Given the description of an element on the screen output the (x, y) to click on. 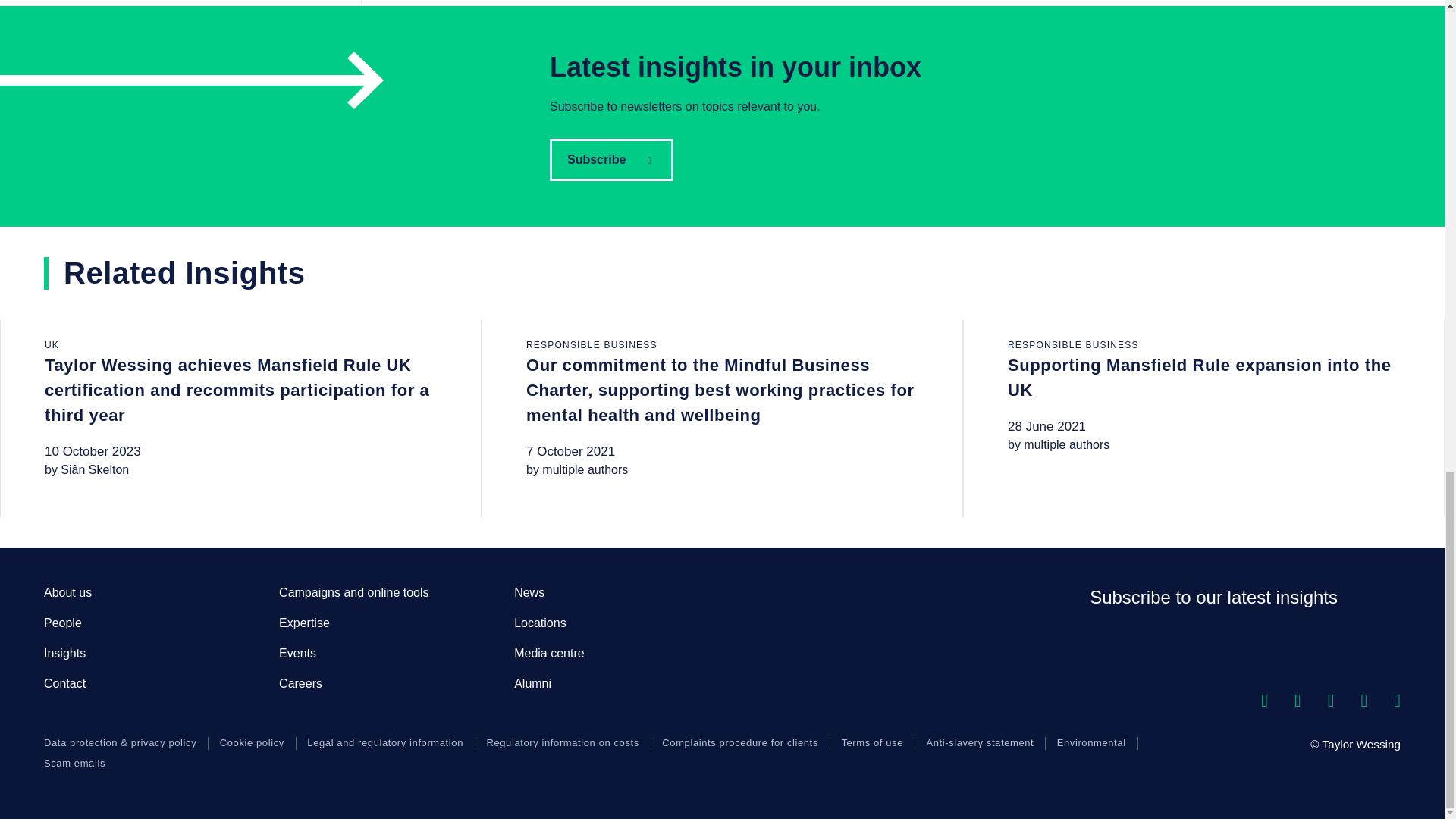
Subscribe (611, 159)
